Given the description of an element on the screen output the (x, y) to click on. 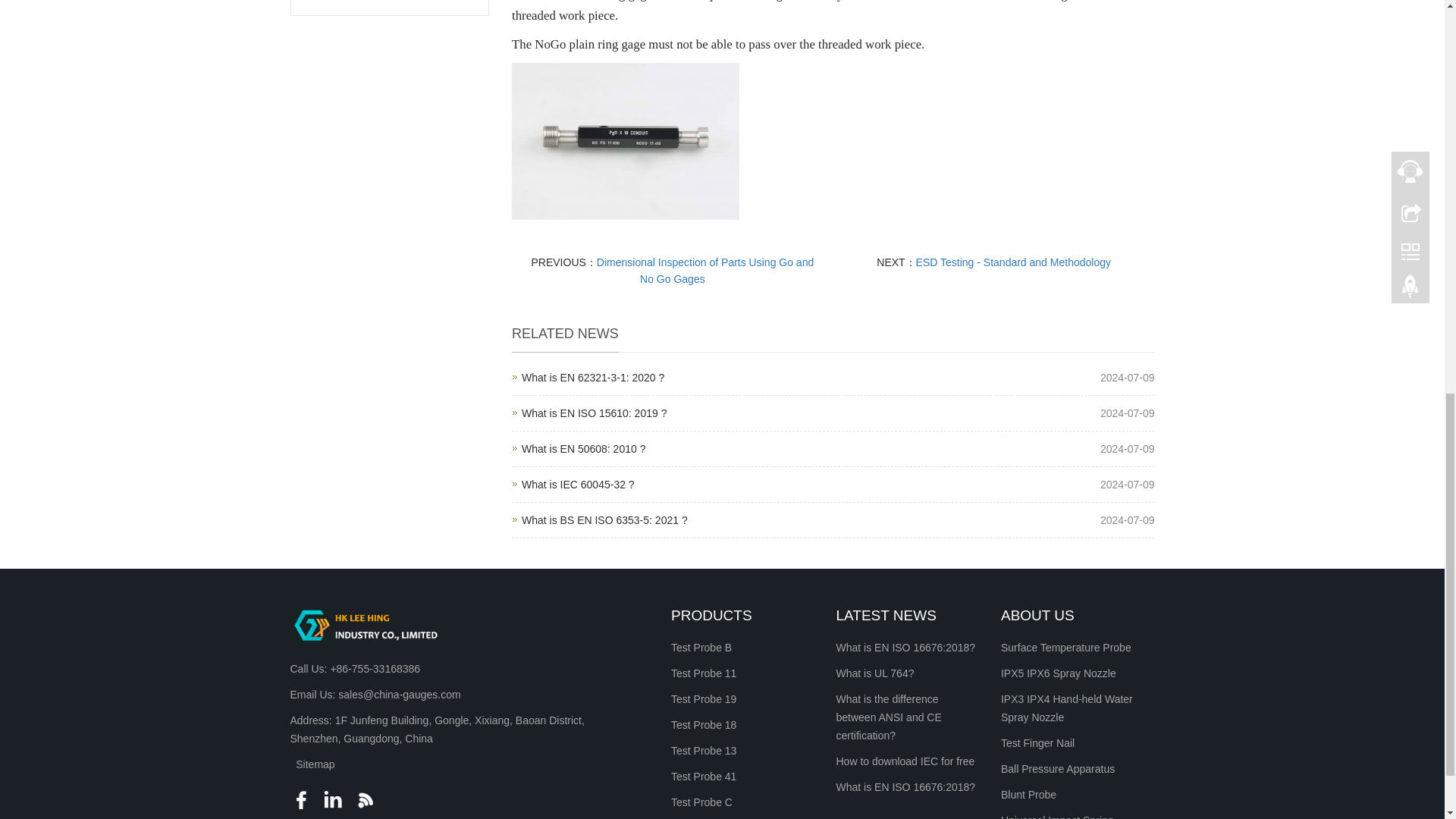
ESD Testing - Standard and Methodology (583, 449)
Dimensional Inspection of Parts Using Go and No Go Gages (1012, 262)
What is EN 62321-3-1: 2020 ? (604, 520)
DIN 40431 (704, 270)
